Given the description of an element on the screen output the (x, y) to click on. 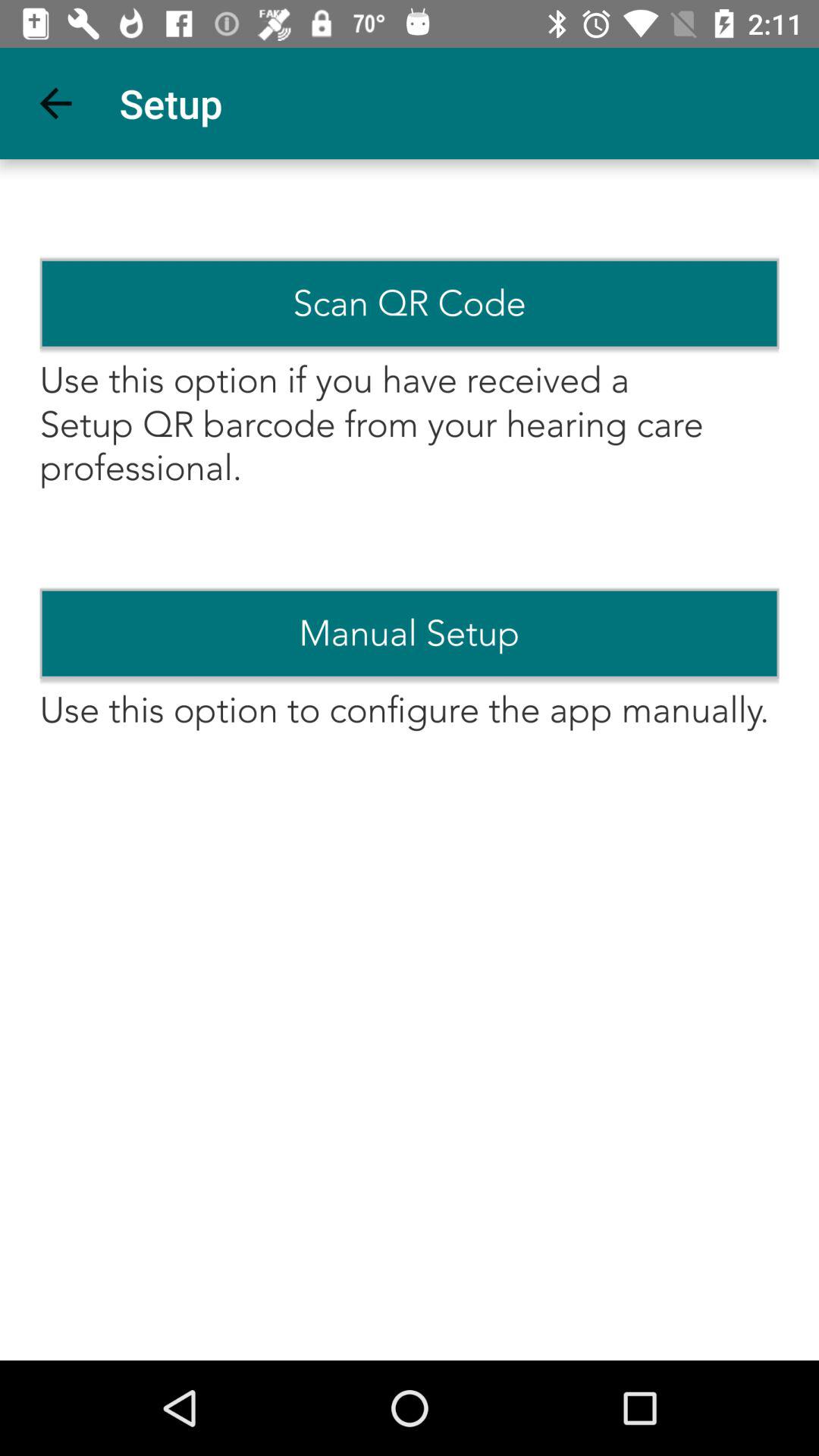
click manual setup item (409, 633)
